Given the description of an element on the screen output the (x, y) to click on. 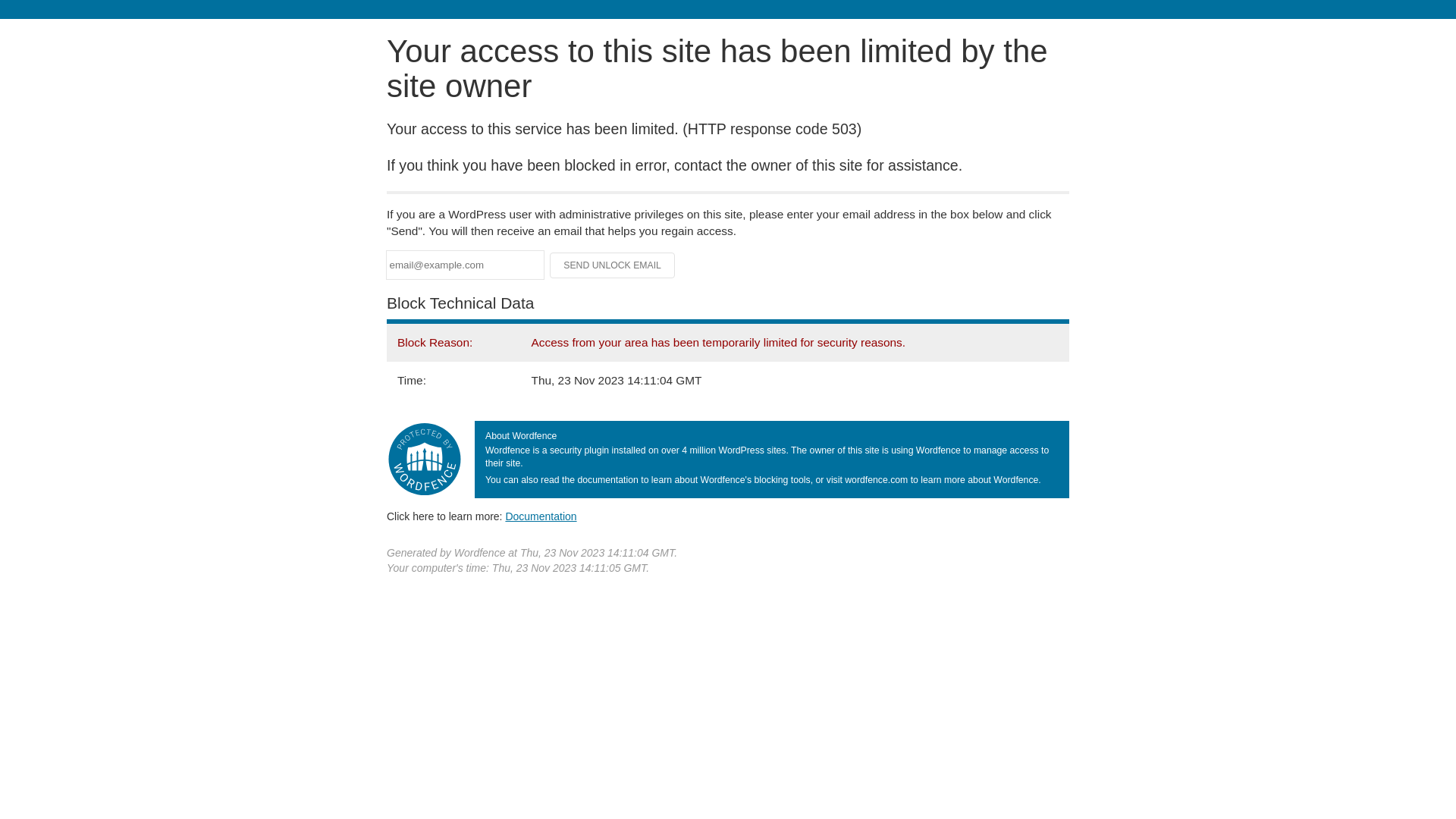
Documentation Element type: text (540, 516)
Send Unlock Email Element type: text (612, 265)
